Given the description of an element on the screen output the (x, y) to click on. 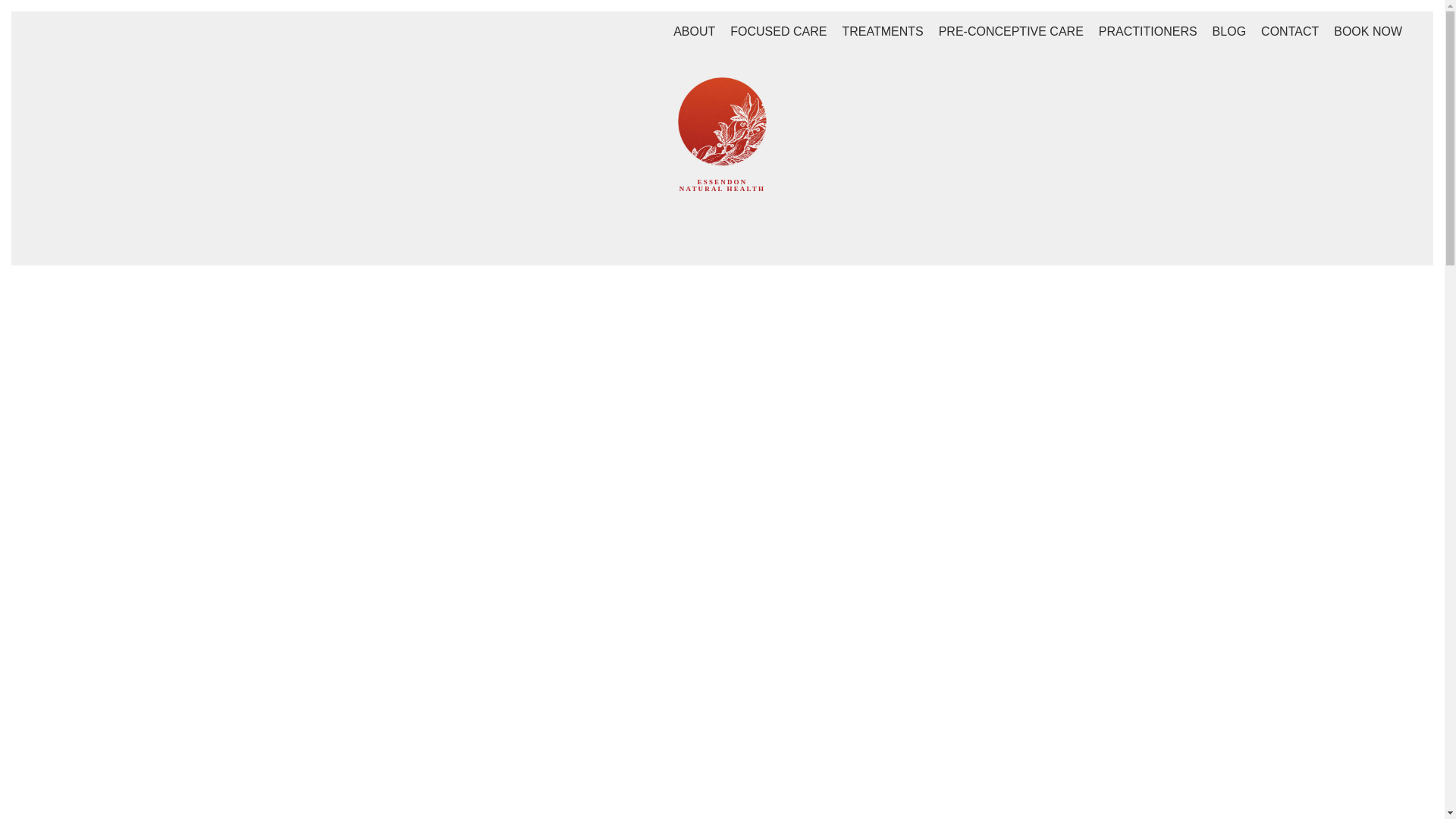
FOCUSED CARE (777, 31)
PRACTITIONERS (1147, 31)
BOOK NOW (1368, 31)
PRE-CONCEPTIVE CARE (1010, 31)
TREATMENTS (882, 31)
ABOUT (694, 31)
ESSENDON NATURAL HEALTH (722, 155)
CONTACT (1289, 31)
BLOG (1228, 31)
